Given the description of an element on the screen output the (x, y) to click on. 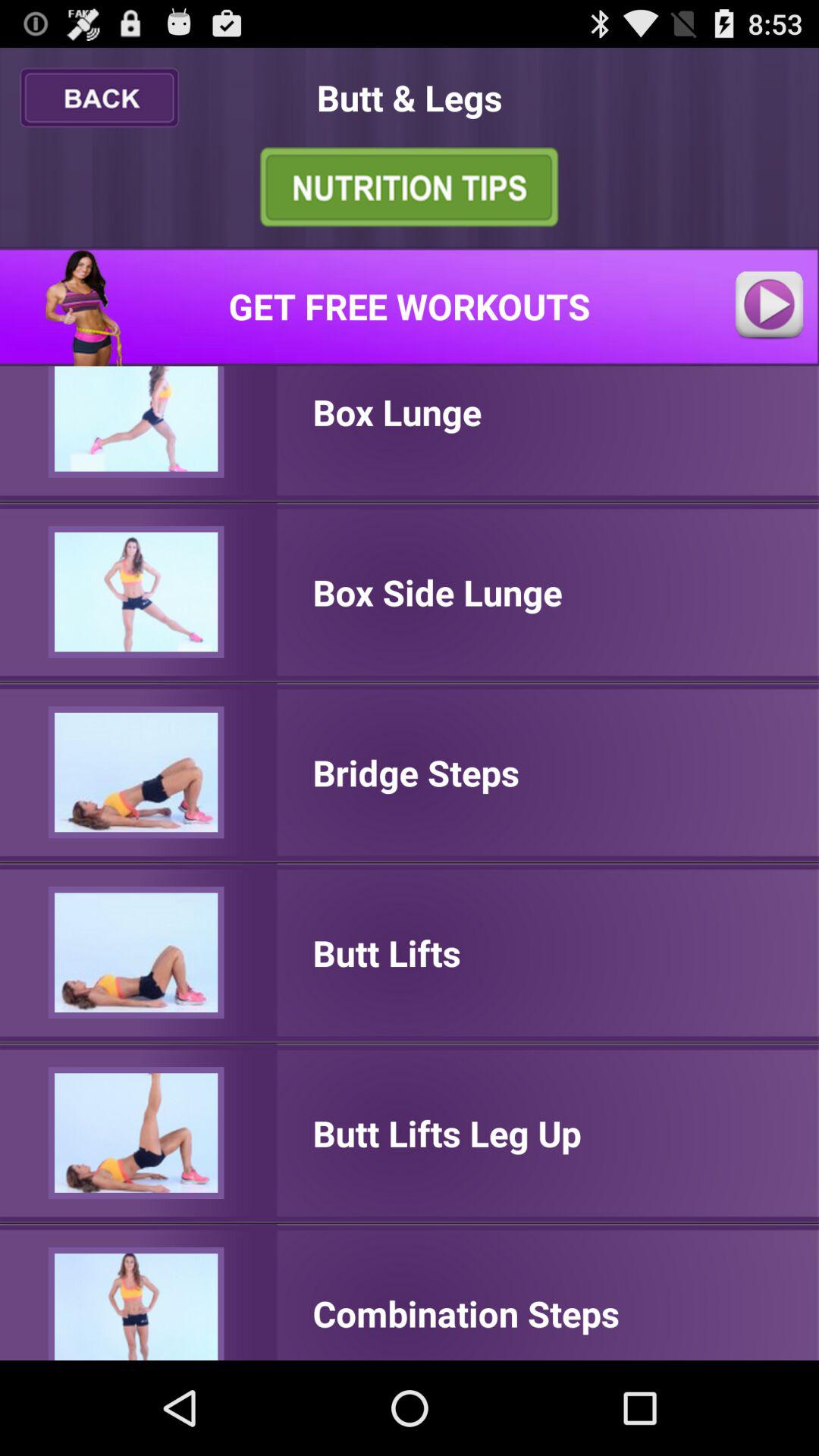
turn on icon above butt lifts icon (415, 772)
